Given the description of an element on the screen output the (x, y) to click on. 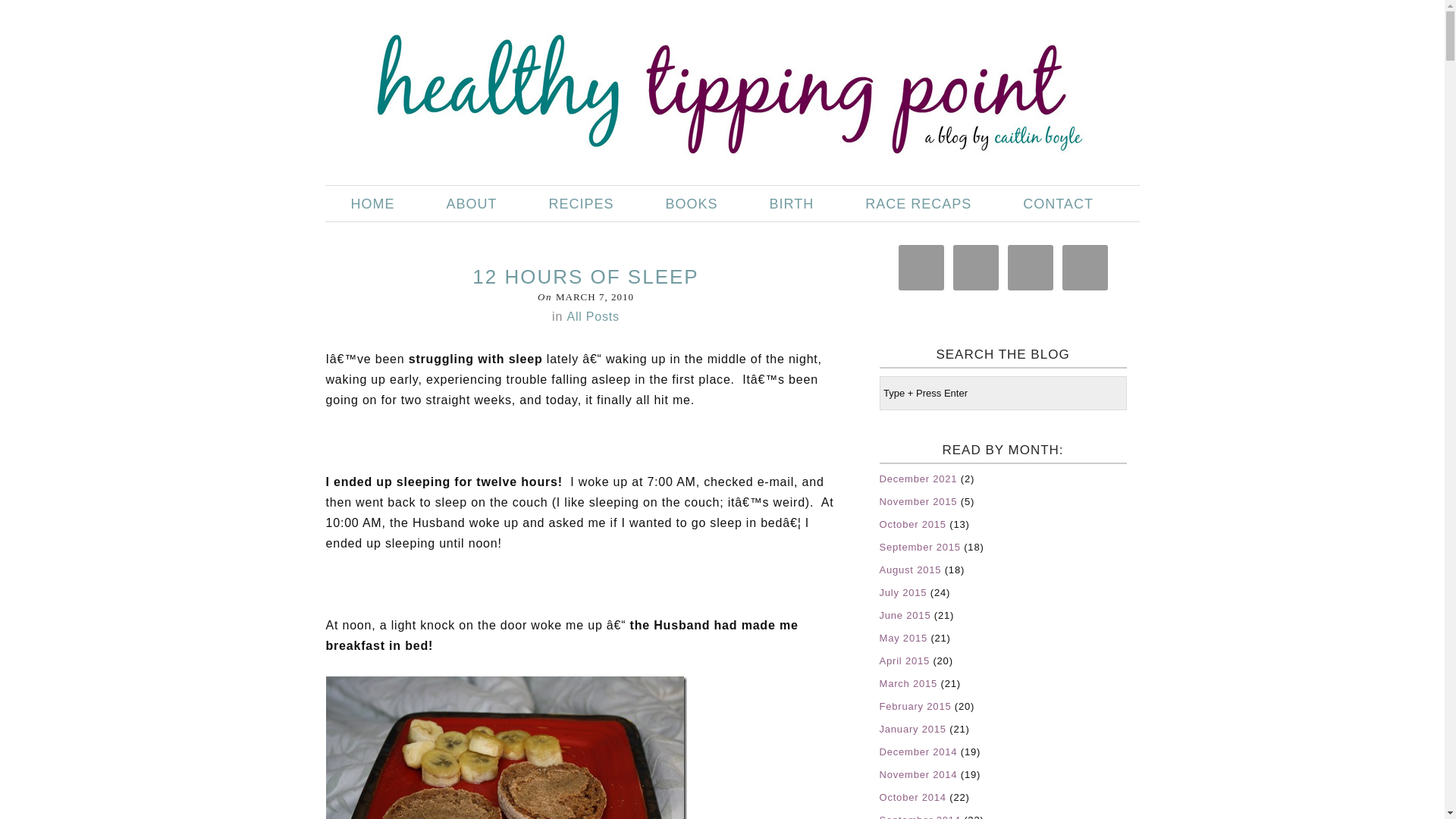
click to return home (721, 88)
CONTACT (1058, 203)
RECIPES (581, 203)
HOME (372, 203)
BOOKS (692, 203)
2010-03-07 (594, 296)
RACE RECAPS (918, 203)
BIRTH (792, 203)
12 HOURS OF SLEEP (584, 276)
All Posts (592, 316)
ABOUT (471, 203)
